Given the description of an element on the screen output the (x, y) to click on. 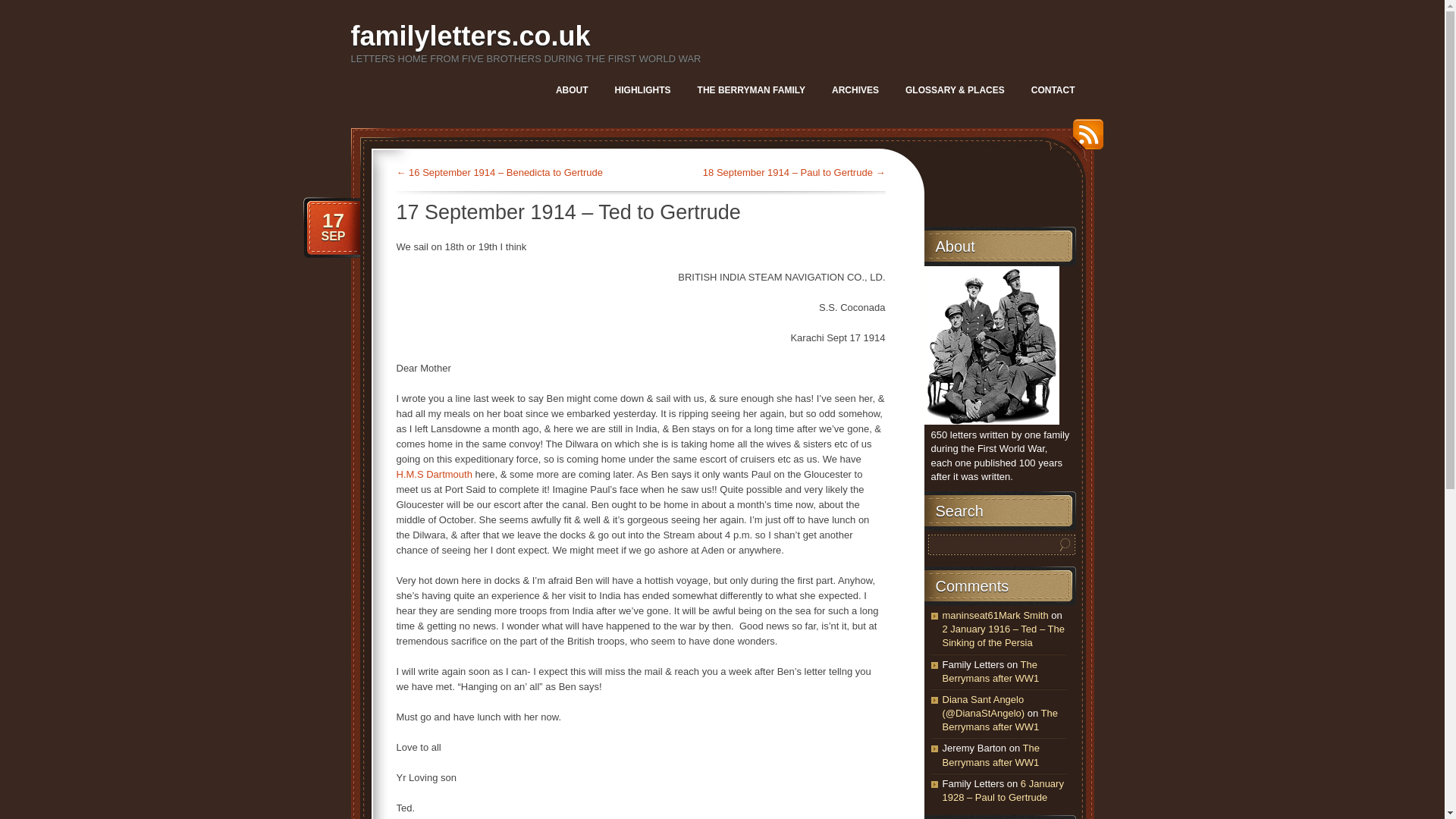
CONTACT (1053, 89)
THE BERRYMAN FAMILY (751, 89)
familyletters.co.uk (469, 35)
HIGHLIGHTS (642, 89)
ARCHIVES (855, 89)
ABOUT (571, 89)
familyletters.co.uk (469, 35)
Search (1064, 544)
